Given the description of an element on the screen output the (x, y) to click on. 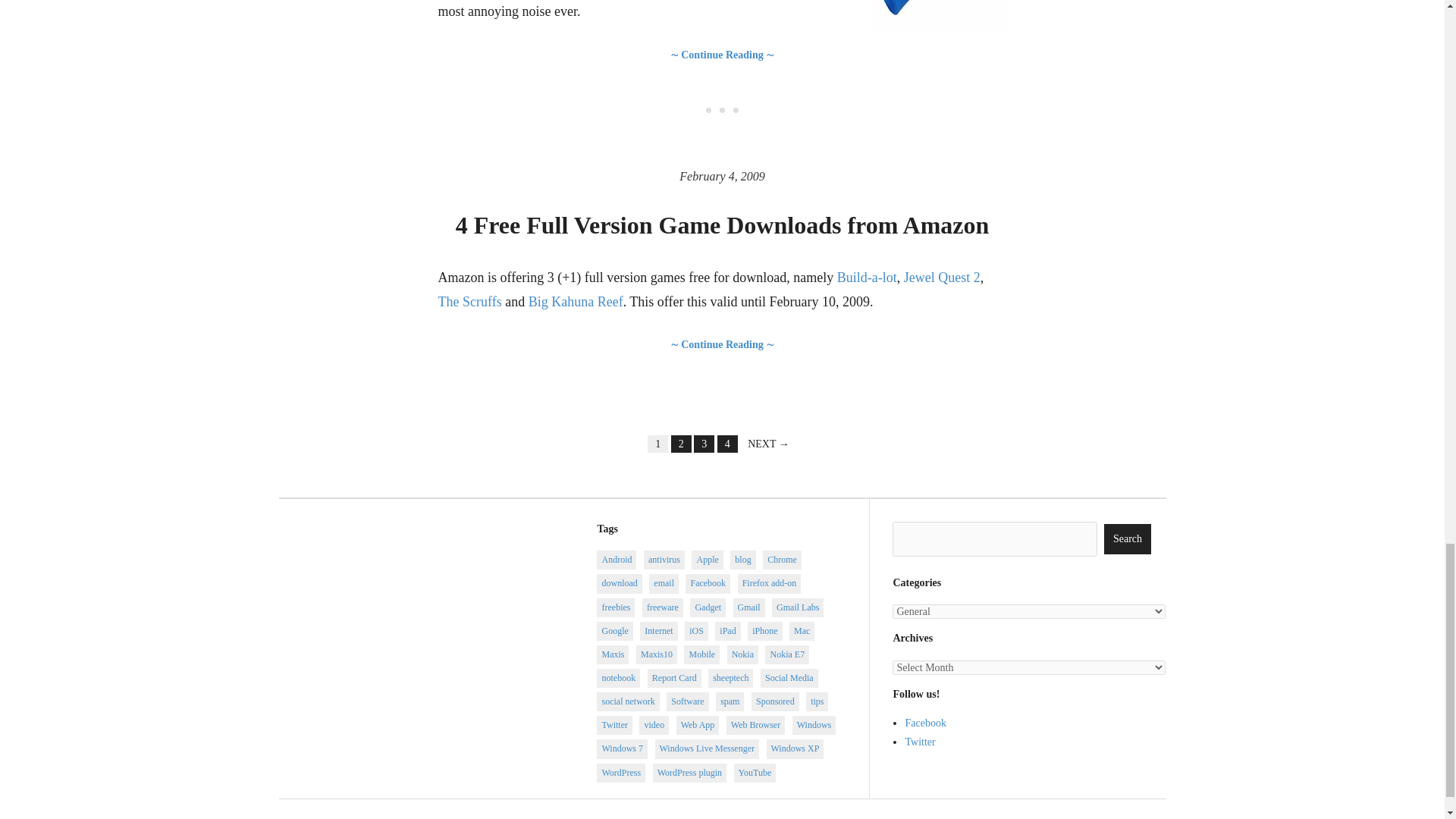
freeware (662, 607)
Gadget (707, 607)
Apple (706, 559)
blog (742, 559)
Jewel Quest 2 (941, 277)
The Scruffs (470, 301)
Internet (658, 630)
Vuvuzela (938, 15)
Google (613, 630)
2 (681, 443)
